Given the description of an element on the screen output the (x, y) to click on. 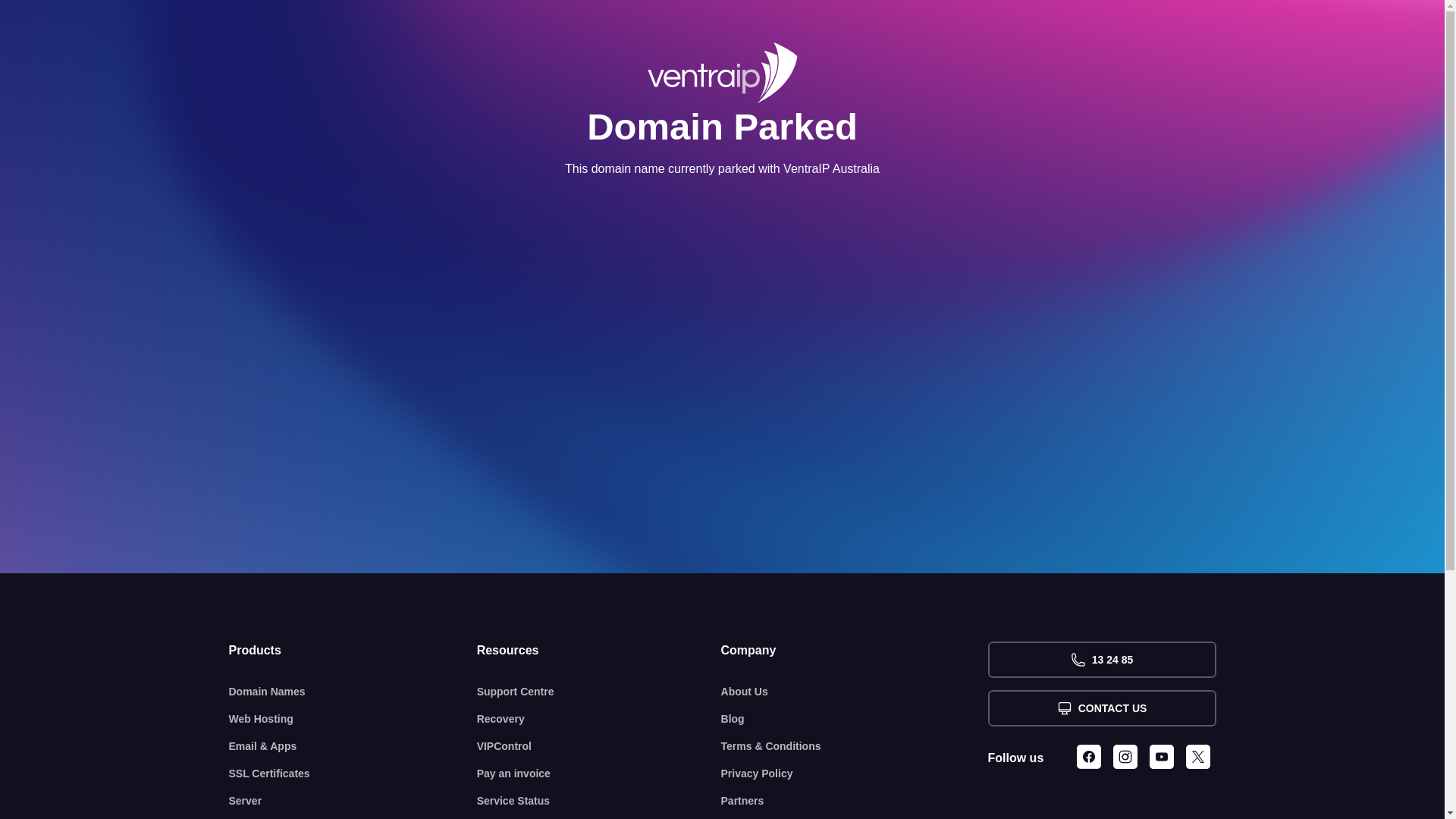
Support Centre Element type: text (598, 691)
CONTACT US Element type: text (1101, 708)
13 24 85 Element type: text (1101, 659)
Terms & Conditions Element type: text (854, 745)
Recovery Element type: text (598, 718)
Email & Apps Element type: text (352, 745)
Pay an invoice Element type: text (598, 773)
Server Element type: text (352, 800)
Domain Names Element type: text (352, 691)
About Us Element type: text (854, 691)
VIPControl Element type: text (598, 745)
Partners Element type: text (854, 800)
Blog Element type: text (854, 718)
Web Hosting Element type: text (352, 718)
Service Status Element type: text (598, 800)
Privacy Policy Element type: text (854, 773)
SSL Certificates Element type: text (352, 773)
